Given the description of an element on the screen output the (x, y) to click on. 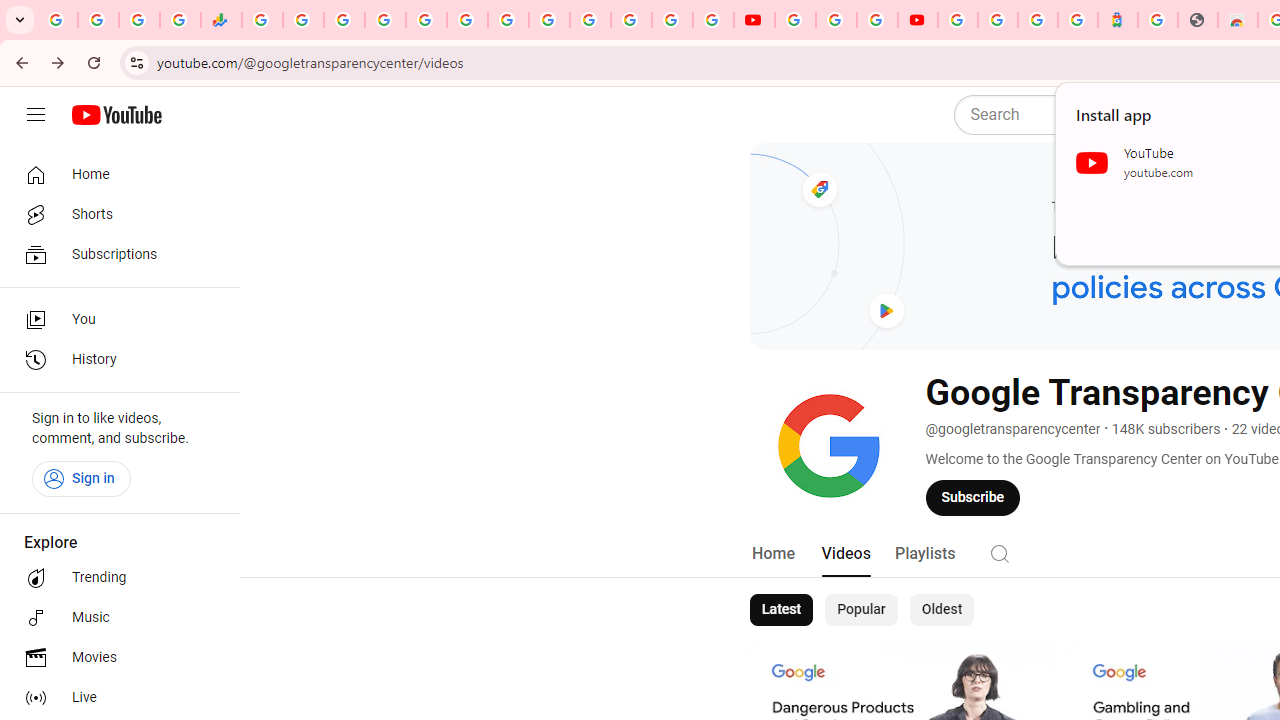
Videos (845, 553)
YouTube (548, 20)
Latest (780, 609)
Sign in - Google Accounts (957, 20)
Atour Hotel - Google hotels (1117, 20)
Sign in - Google Accounts (589, 20)
Privacy Checkup (712, 20)
History (113, 359)
Search (999, 552)
Music (113, 617)
YouTube Home (116, 115)
